Given the description of an element on the screen output the (x, y) to click on. 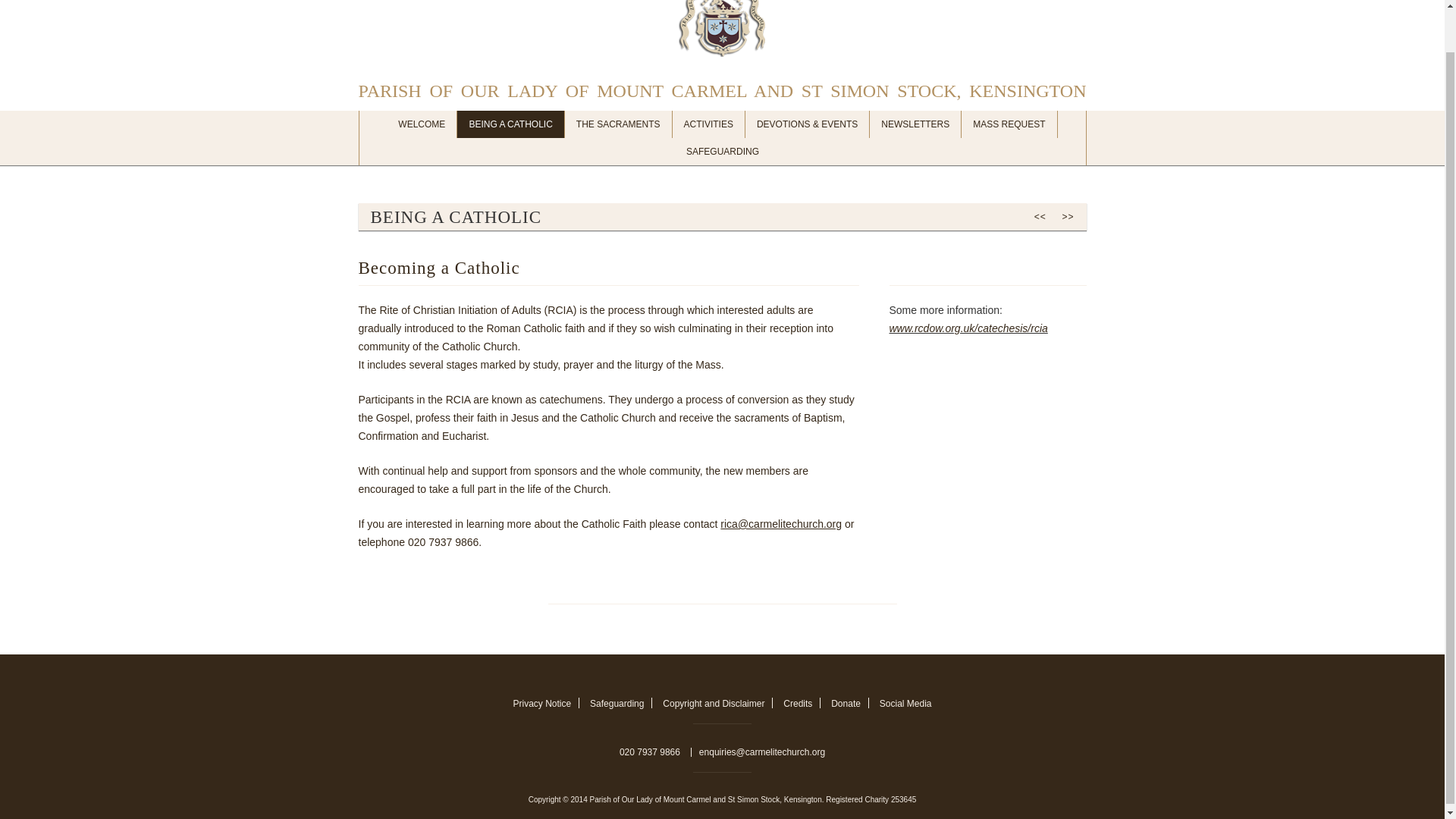
BEING A CATHOLIC (510, 124)
THE SACRAMENTS (618, 124)
ACTIVITIES (708, 124)
WELCOME (422, 124)
